Given the description of an element on the screen output the (x, y) to click on. 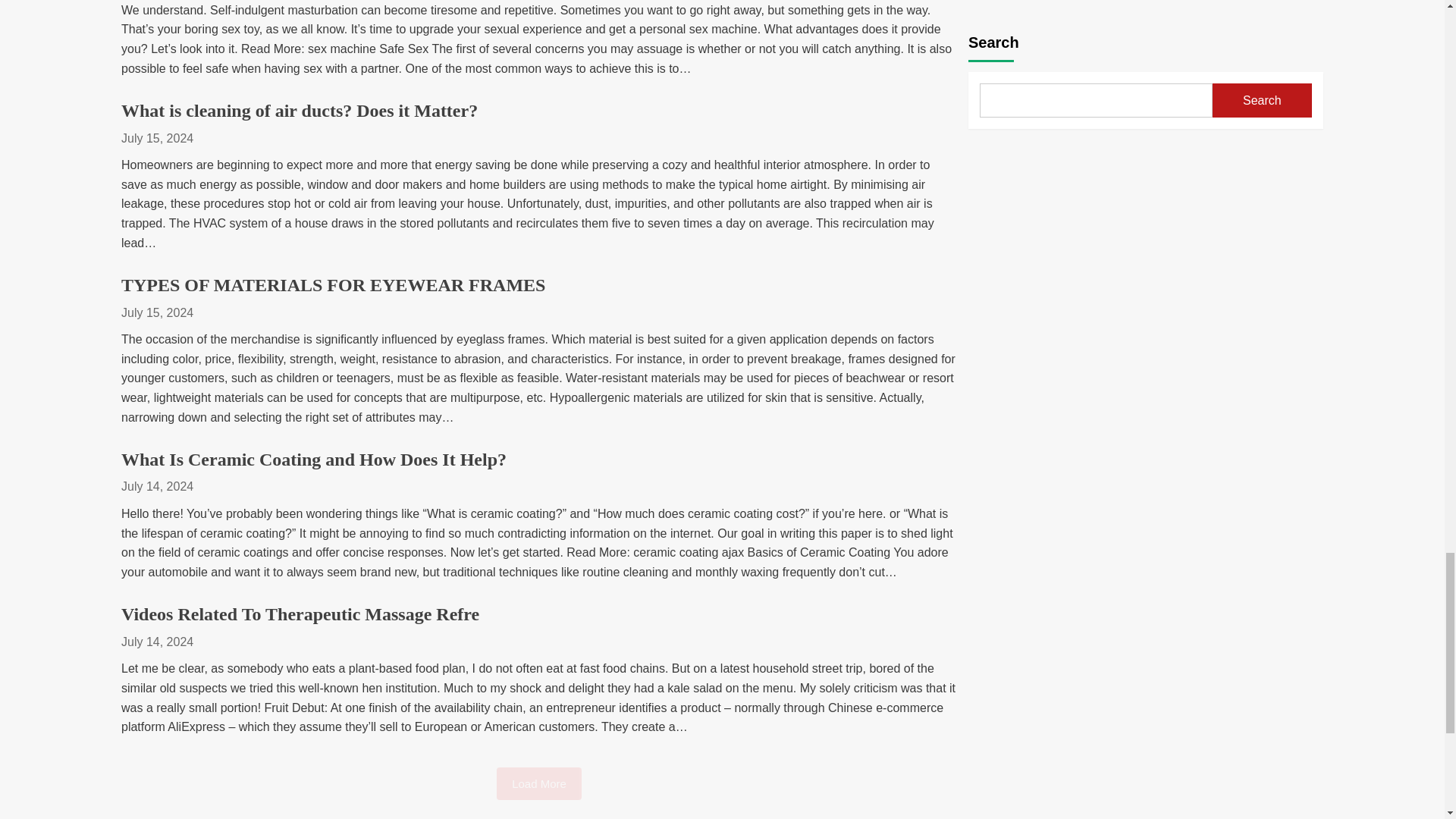
What is cleaning of air ducts? Does it Matter? (298, 110)
